Given the description of an element on the screen output the (x, y) to click on. 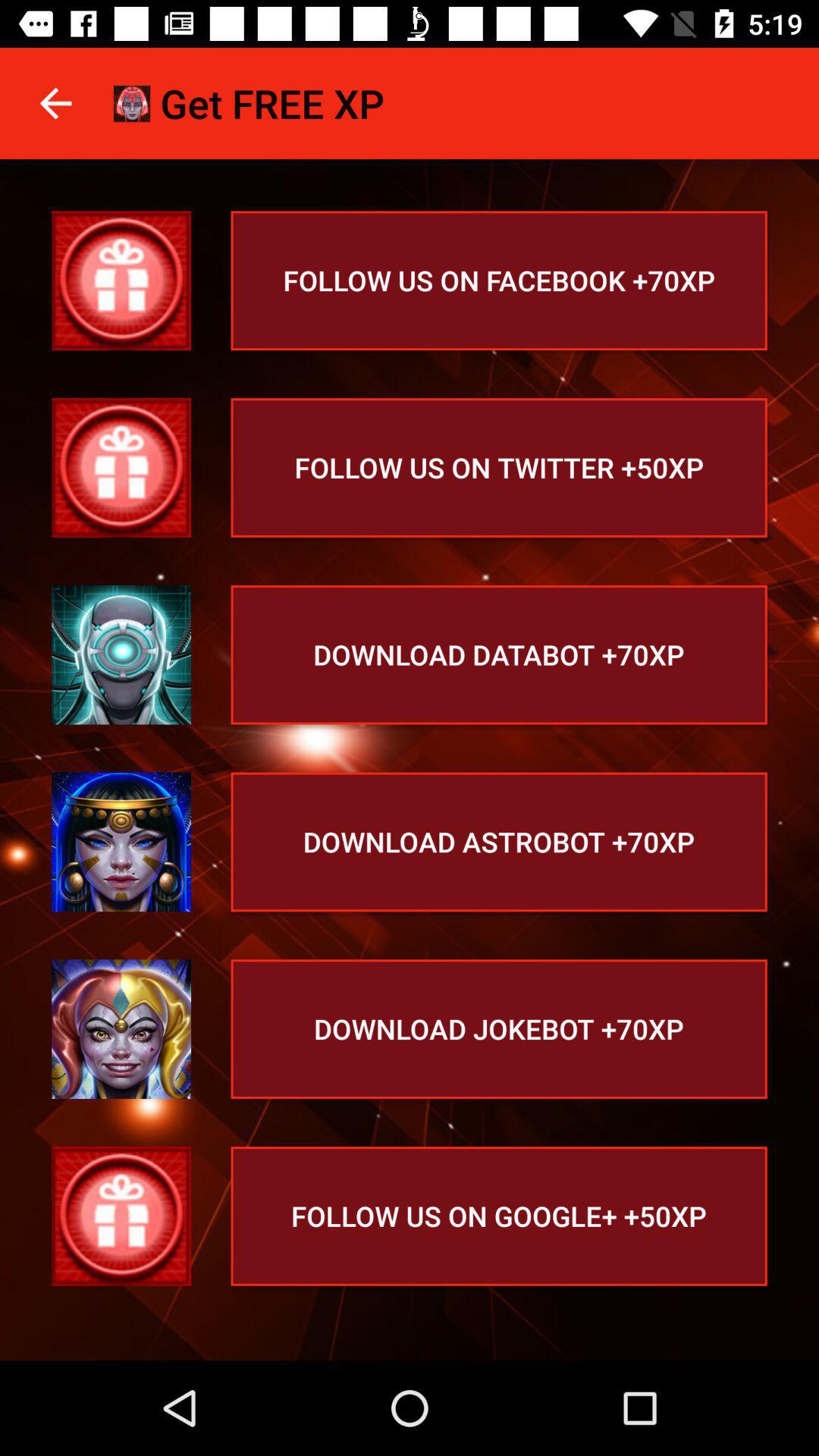
follow on google (121, 1215)
